Given the description of an element on the screen output the (x, y) to click on. 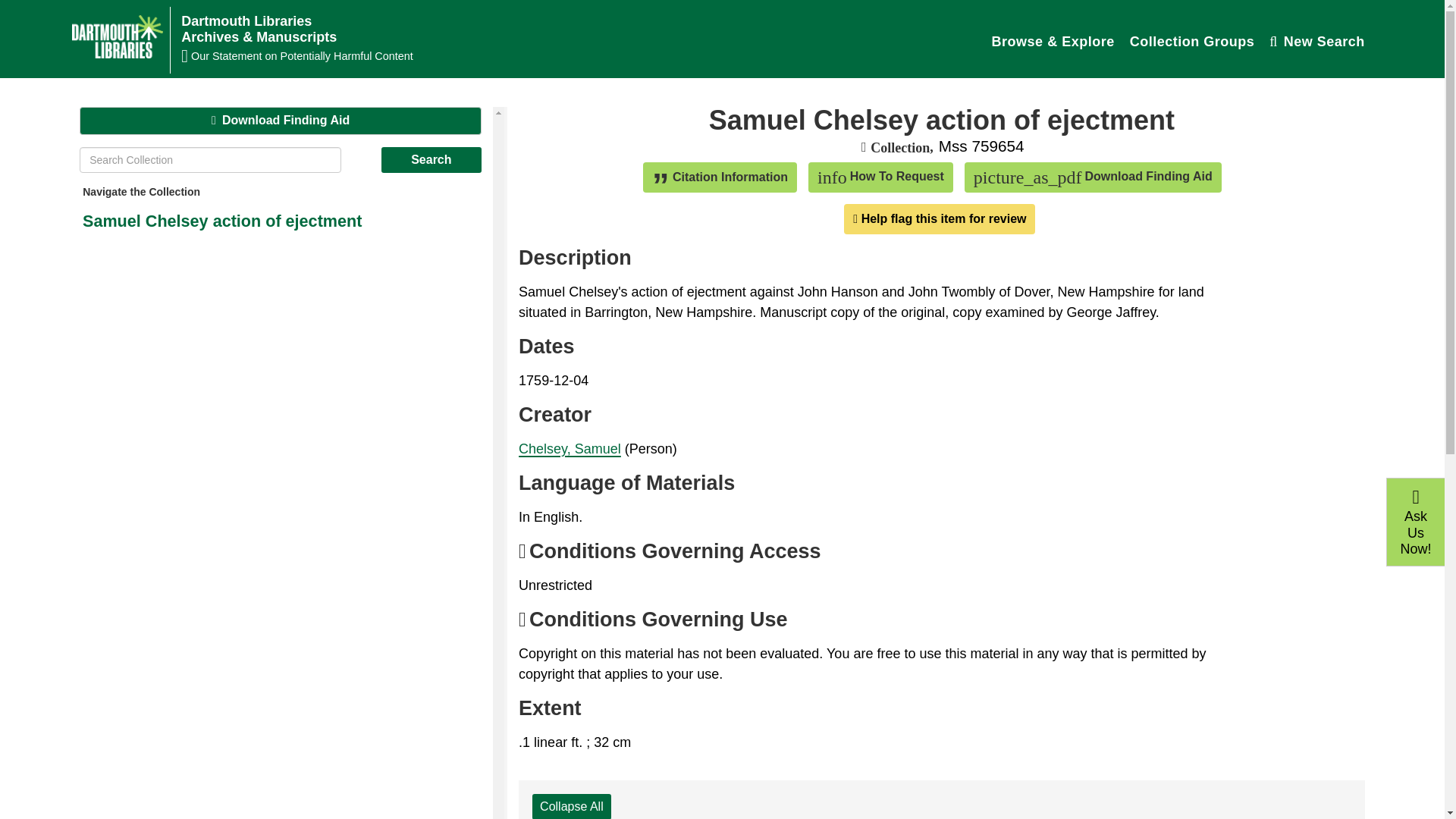
Collection (898, 147)
Download Finding Aid (280, 121)
 Help flag this item for review (939, 218)
Collection Groups (1192, 41)
Our Statement on Potentially Harmful Content (585, 55)
Skip to Selected Object (1317, 41)
infoHow To Request (431, 159)
Chelsey, Samuel (880, 177)
